Given the description of an element on the screen output the (x, y) to click on. 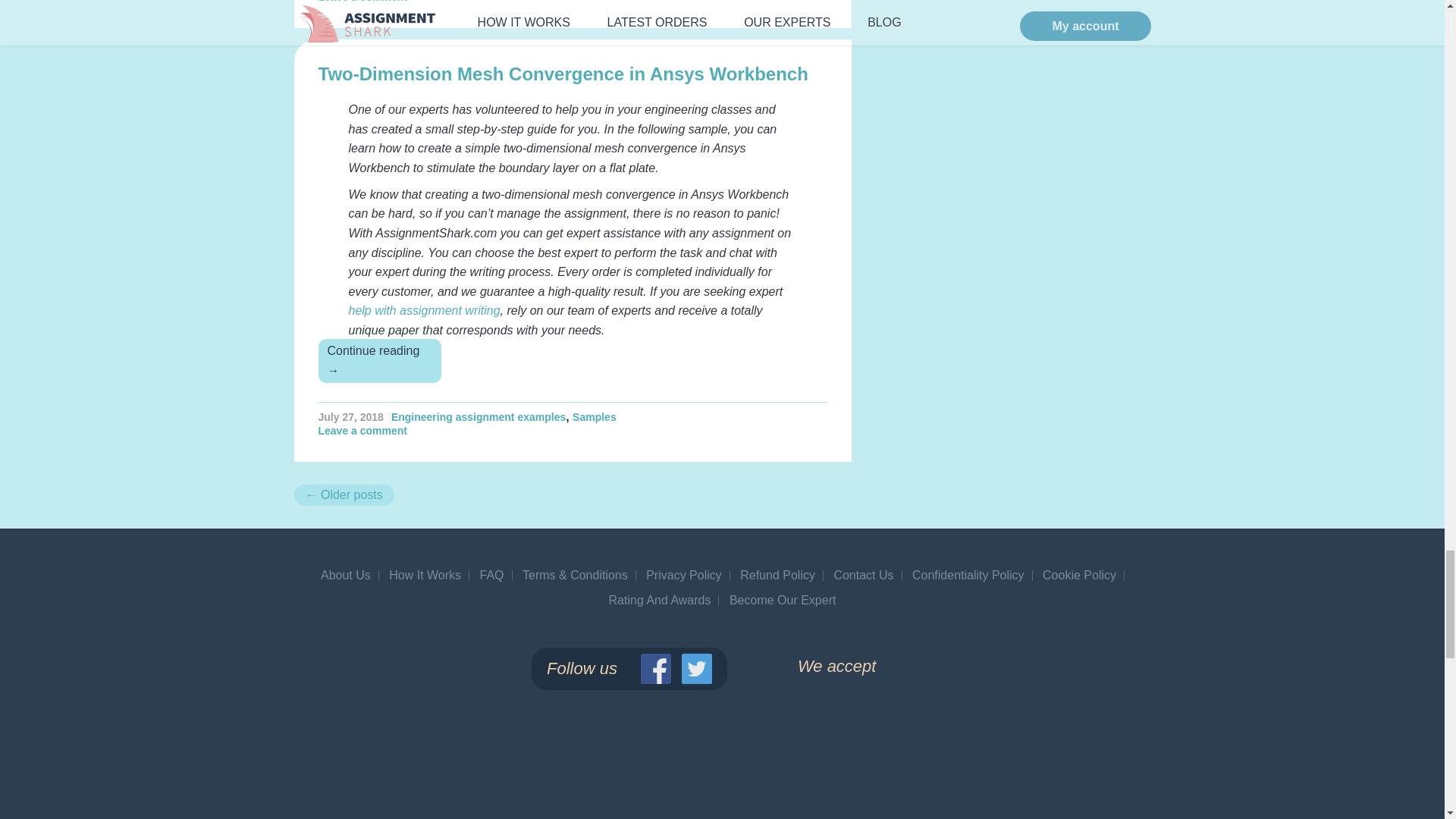
Mastercard (842, 812)
Visa (842, 741)
